Given the description of an element on the screen output the (x, y) to click on. 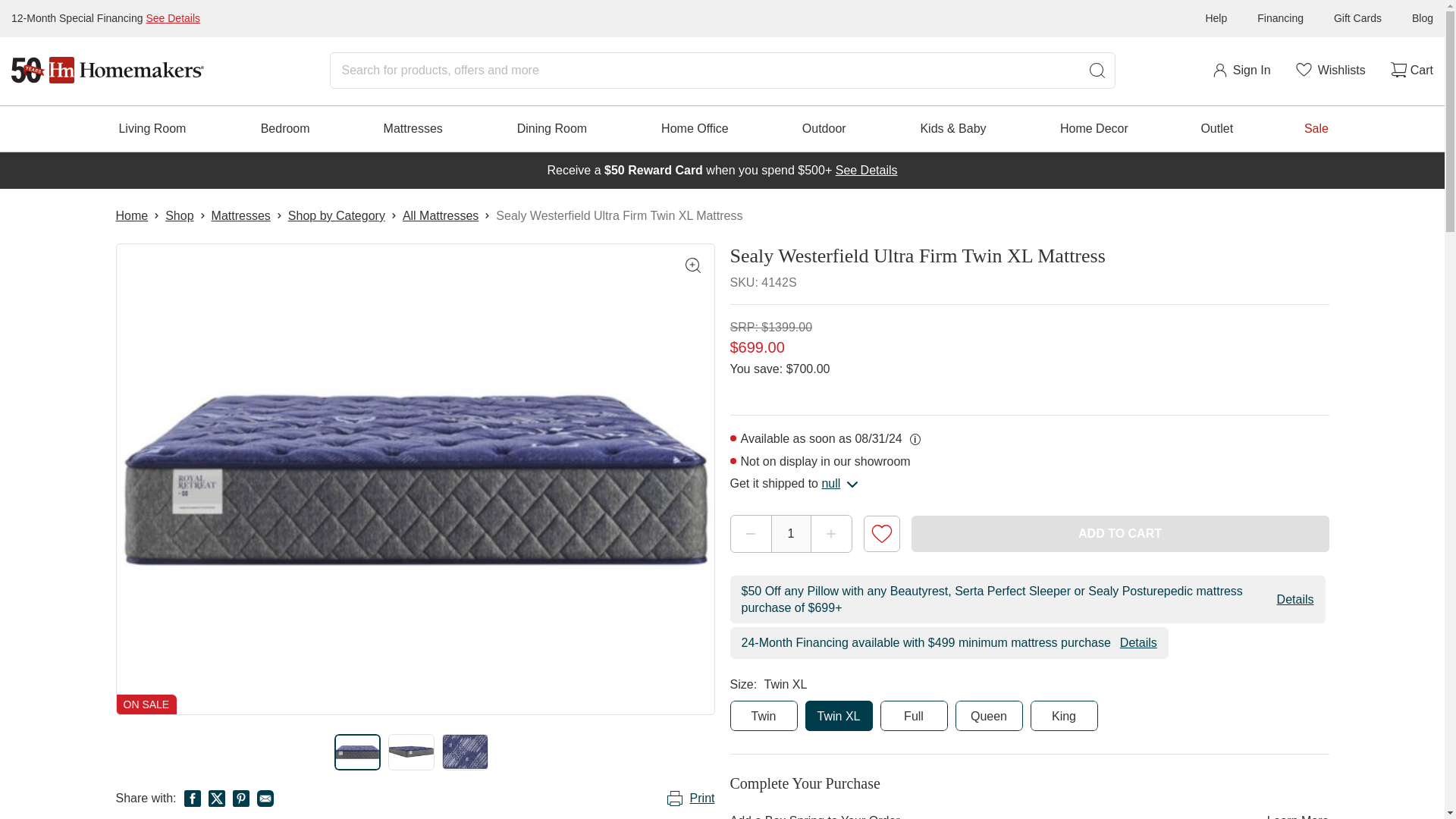
Outlet (1217, 128)
Help (1216, 18)
See Details (172, 18)
View your cart (1410, 70)
Bedroom (284, 128)
Dining Room (552, 128)
Financing (1280, 18)
Living Room (152, 128)
Cart (1410, 70)
Blog (1422, 18)
Sign In (1241, 70)
Home Decor (1094, 128)
Sign In (1241, 70)
Mattresses (412, 128)
Wishlists (1329, 70)
